Given the description of an element on the screen output the (x, y) to click on. 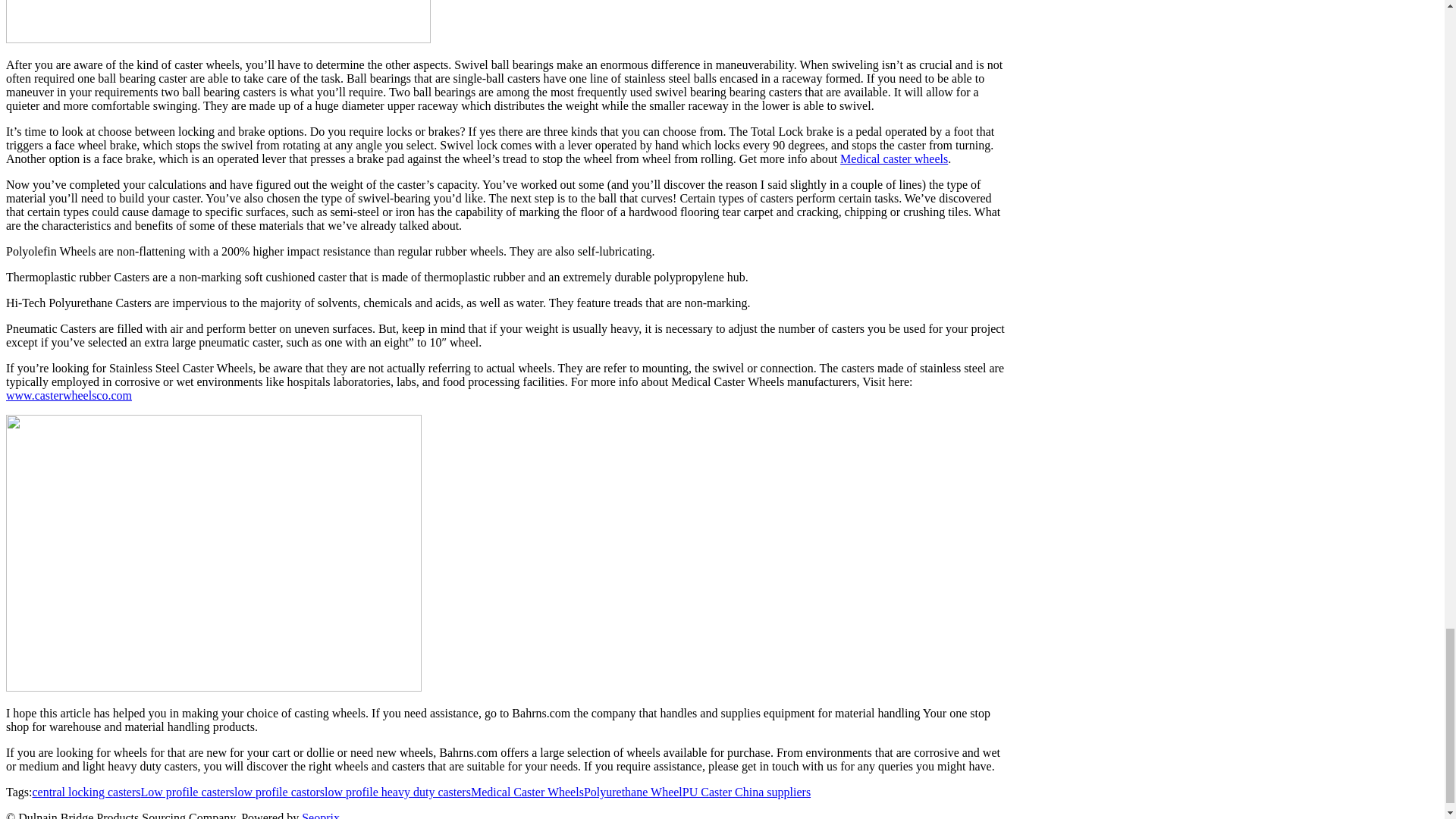
www.casterwheelsco.com (68, 395)
Medical Caster Wheels (526, 791)
PU Caster China suppliers (746, 791)
Low profile casters (186, 791)
Polyurethane Wheel (632, 791)
low profile castors (279, 791)
low profile heavy duty casters (397, 791)
Polyurethane Wheel (632, 791)
low profile heavy duty casters (397, 791)
Medical Caster Wheels (526, 791)
